Given the description of an element on the screen output the (x, y) to click on. 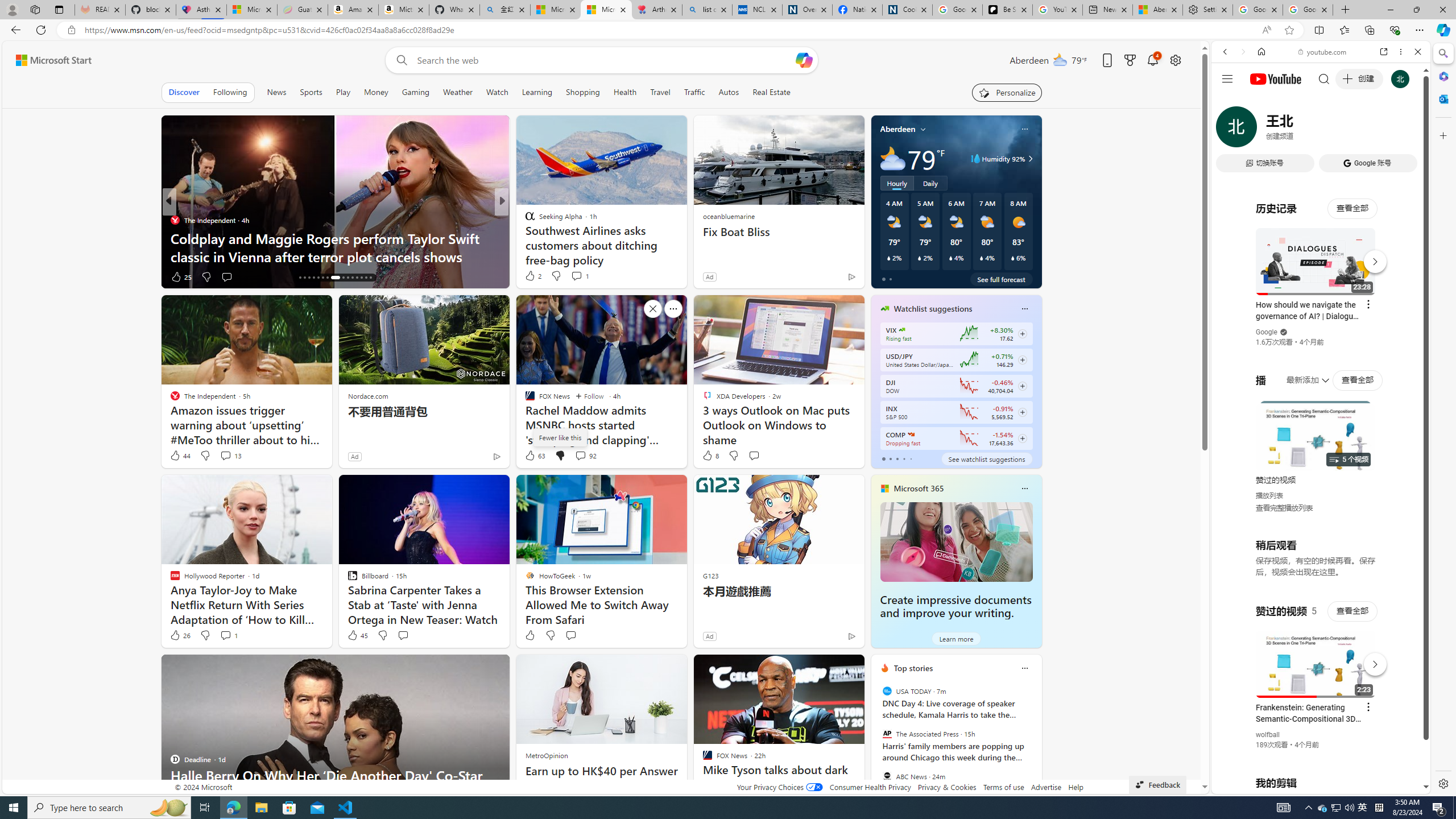
More options (1401, 51)
IMAGES (1262, 130)
8 Like (710, 455)
Search Filter, VIDEOS (1300, 129)
previous (876, 741)
View comments 20 Comment (585, 276)
See more (850, 668)
tab-0 (882, 458)
Learning (536, 92)
The Associated Press (886, 733)
Shopping (582, 92)
Address and search bar (669, 29)
